Given the description of an element on the screen output the (x, y) to click on. 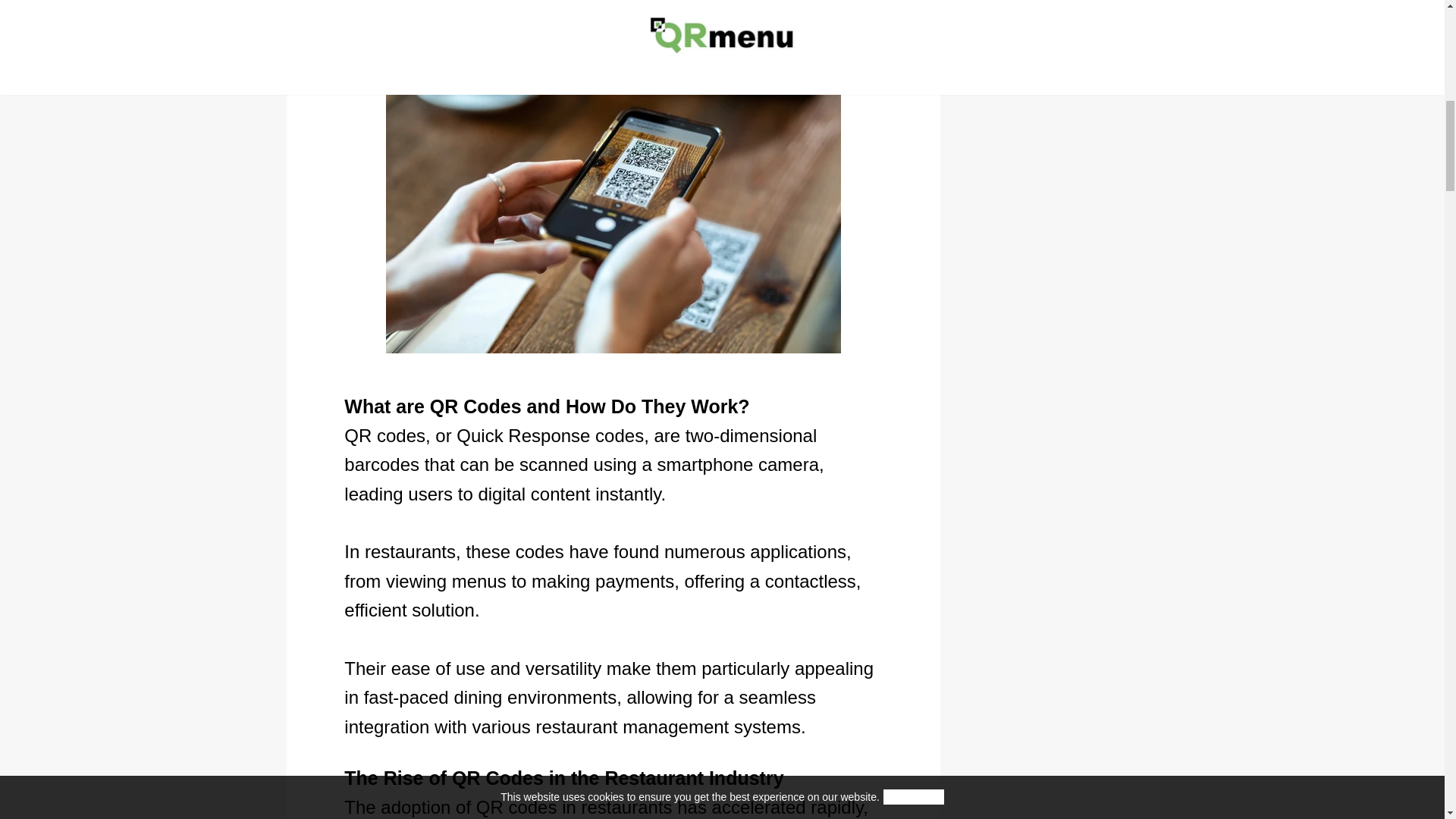
why should restaurants create a qr menu for covid 19? (1048, 10)
QR Code Menu Builder for Restaurants (1048, 76)
Menu Mauro's Cafe fred segal restaurant (1048, 41)
